Given the description of an element on the screen output the (x, y) to click on. 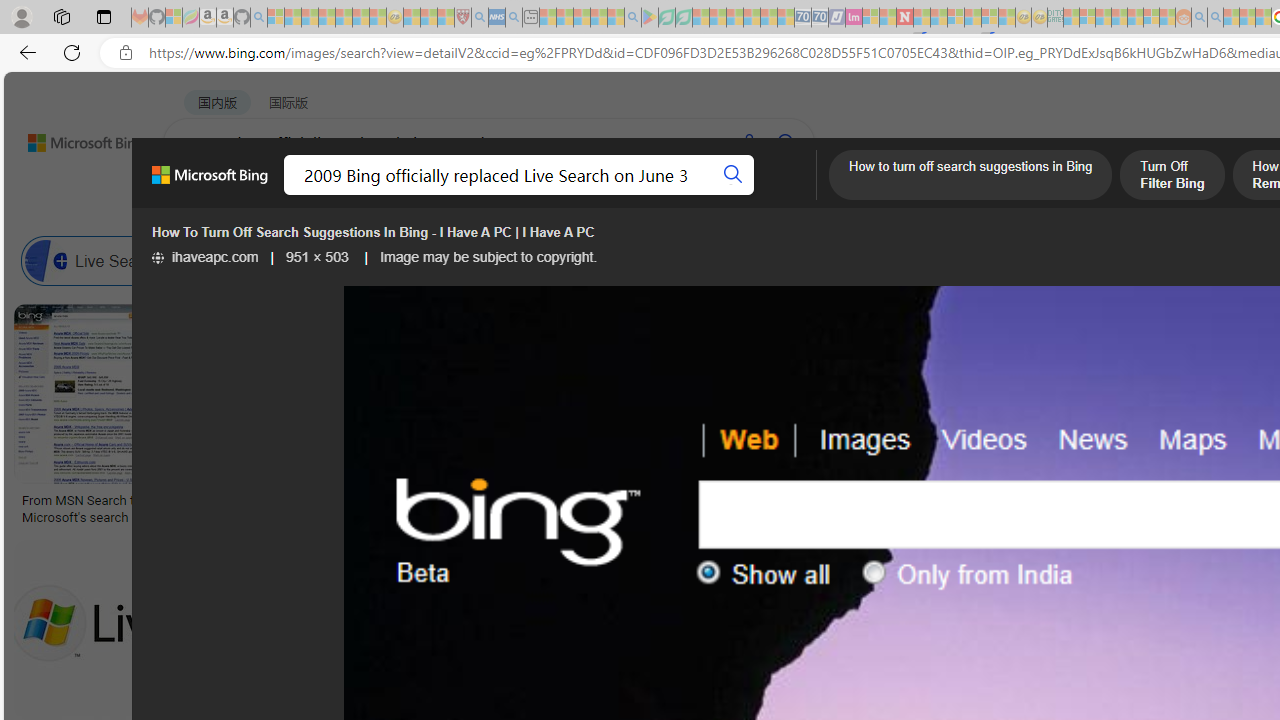
Back to Bing search (73, 138)
Microsoft Bing, Back to Bing search (209, 183)
Search using voice (748, 142)
MORE (793, 195)
Microsoft Live Logo (737, 500)
